Given the description of an element on the screen output the (x, y) to click on. 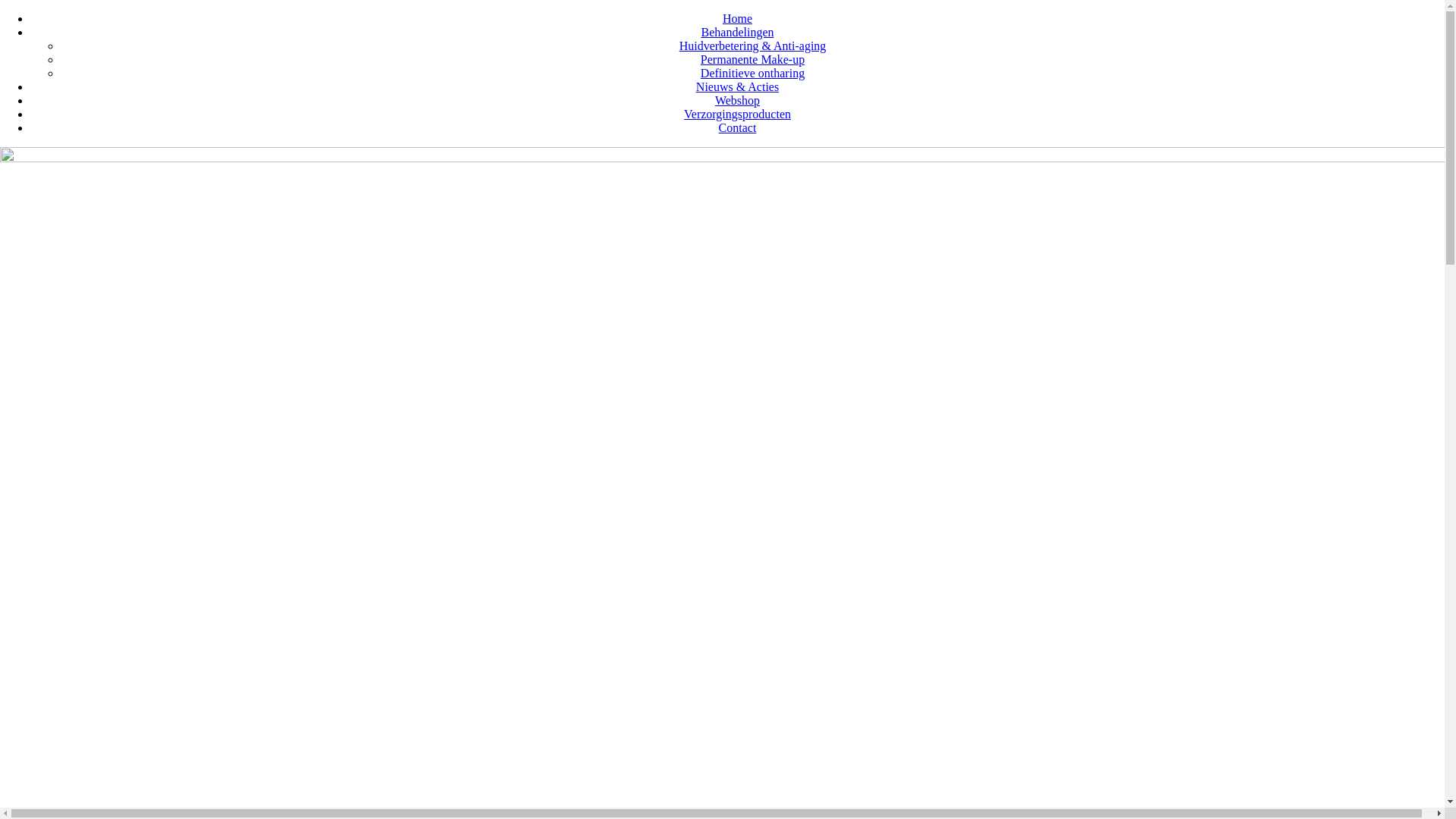
Verzorgingsproducten Element type: text (737, 113)
Nieuws & Acties Element type: text (737, 86)
Webshop Element type: text (737, 100)
Behandelingen Element type: text (737, 31)
Contact Element type: text (737, 127)
Permanente Make-up Element type: text (752, 59)
Home Element type: text (737, 18)
Huidverbetering & Anti-aging Element type: text (752, 45)
Definitieve ontharing Element type: text (752, 72)
